Given the description of an element on the screen output the (x, y) to click on. 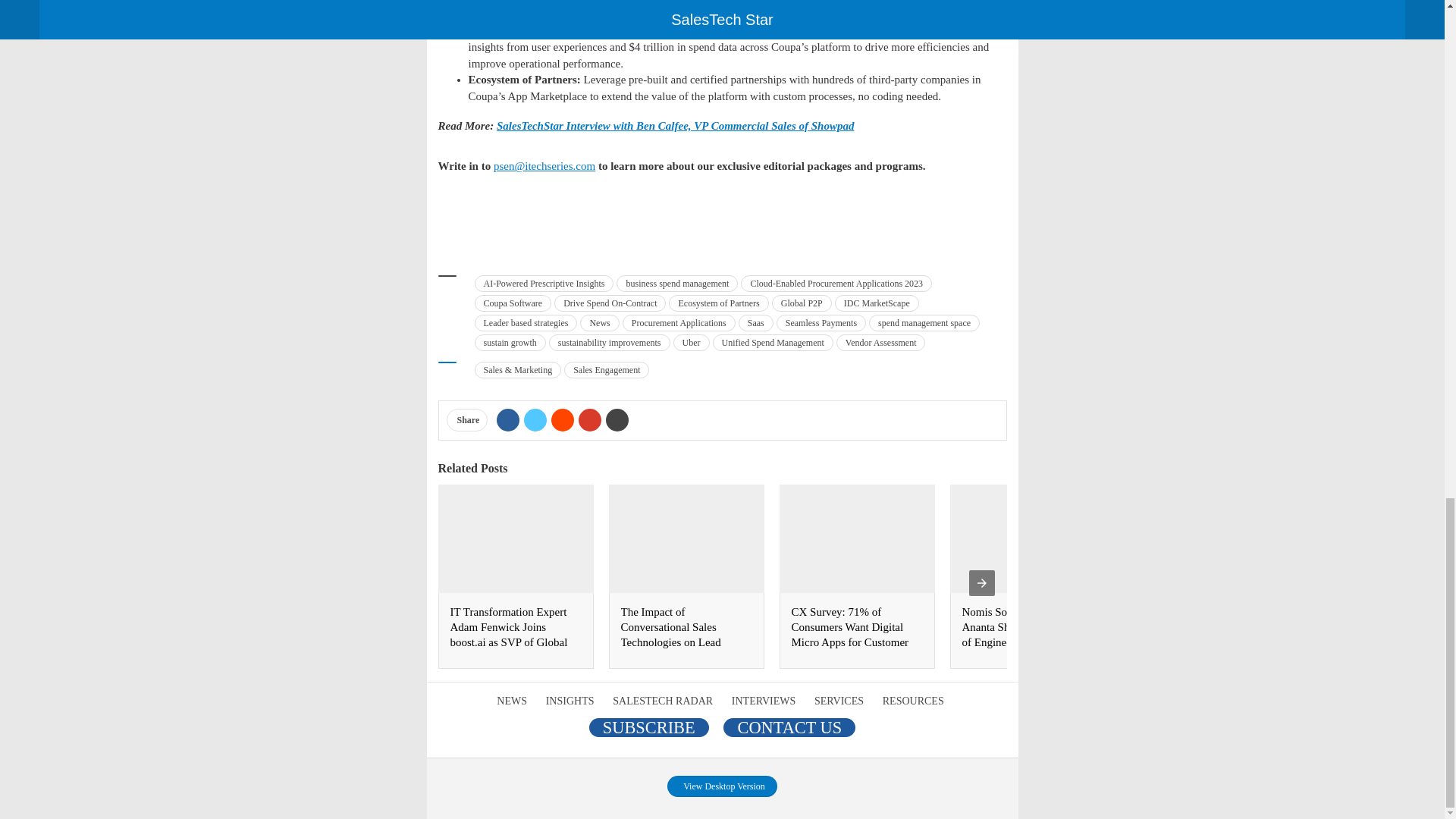
Saas (755, 322)
Cloud-Enabled Procurement Applications 2023 (836, 283)
spend management space (924, 322)
business spend management (676, 283)
sustain growth (510, 342)
Sales Engagement (606, 369)
IDC MarketScape (876, 303)
Ecosystem of Partners (718, 303)
Leader based strategies (526, 322)
Seamless Payments (821, 322)
